Given the description of an element on the screen output the (x, y) to click on. 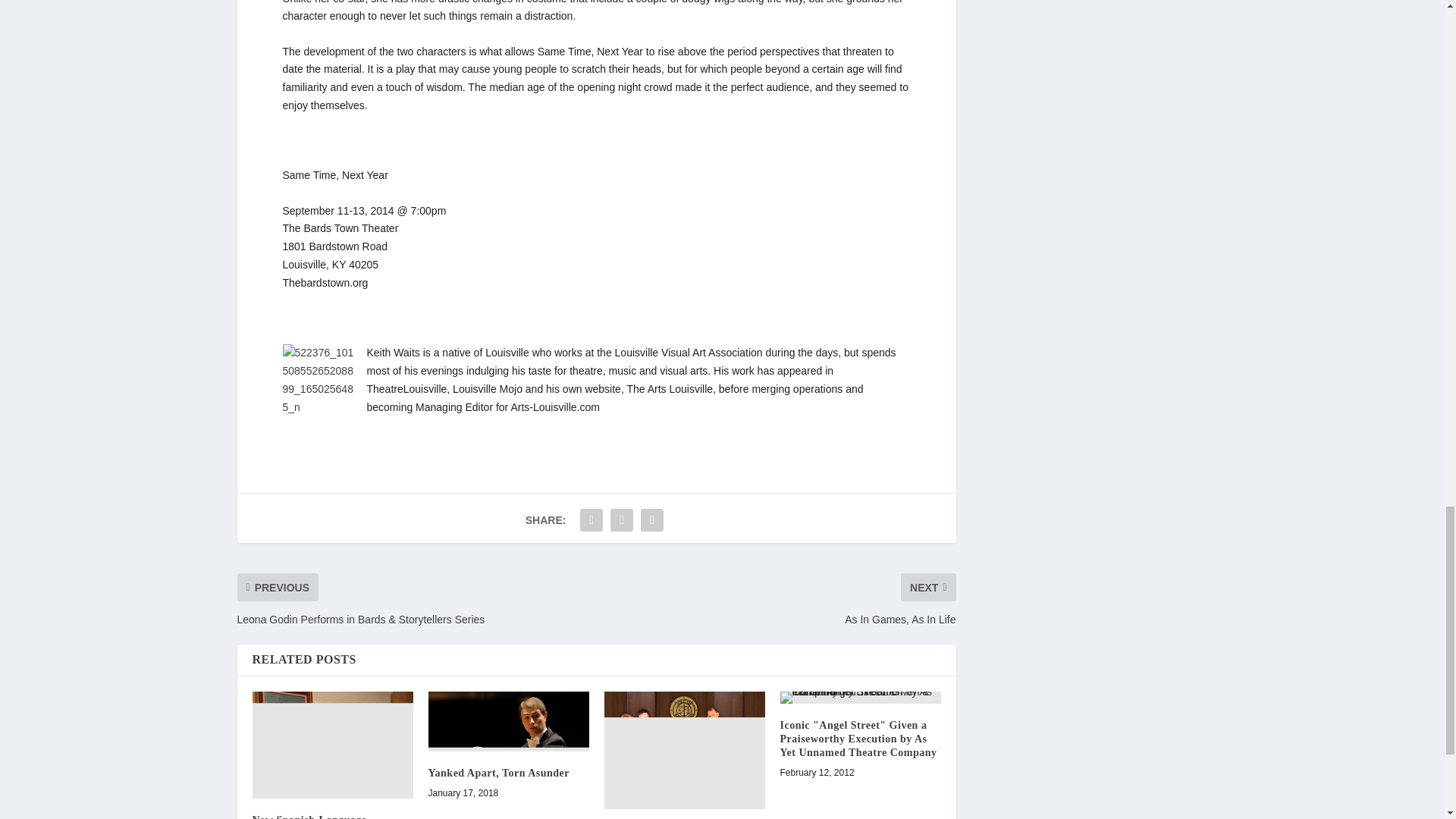
Interactive WhoDunnit Show Invites You to be the Detective (684, 750)
Share "The Comfort of Infidelity" via Email (651, 520)
Yanked Apart, Torn Asunder (508, 721)
Share "The Comfort of Infidelity" via Twitter (622, 520)
Share "The Comfort of Infidelity" via Facebook (591, 520)
